Given the description of an element on the screen output the (x, y) to click on. 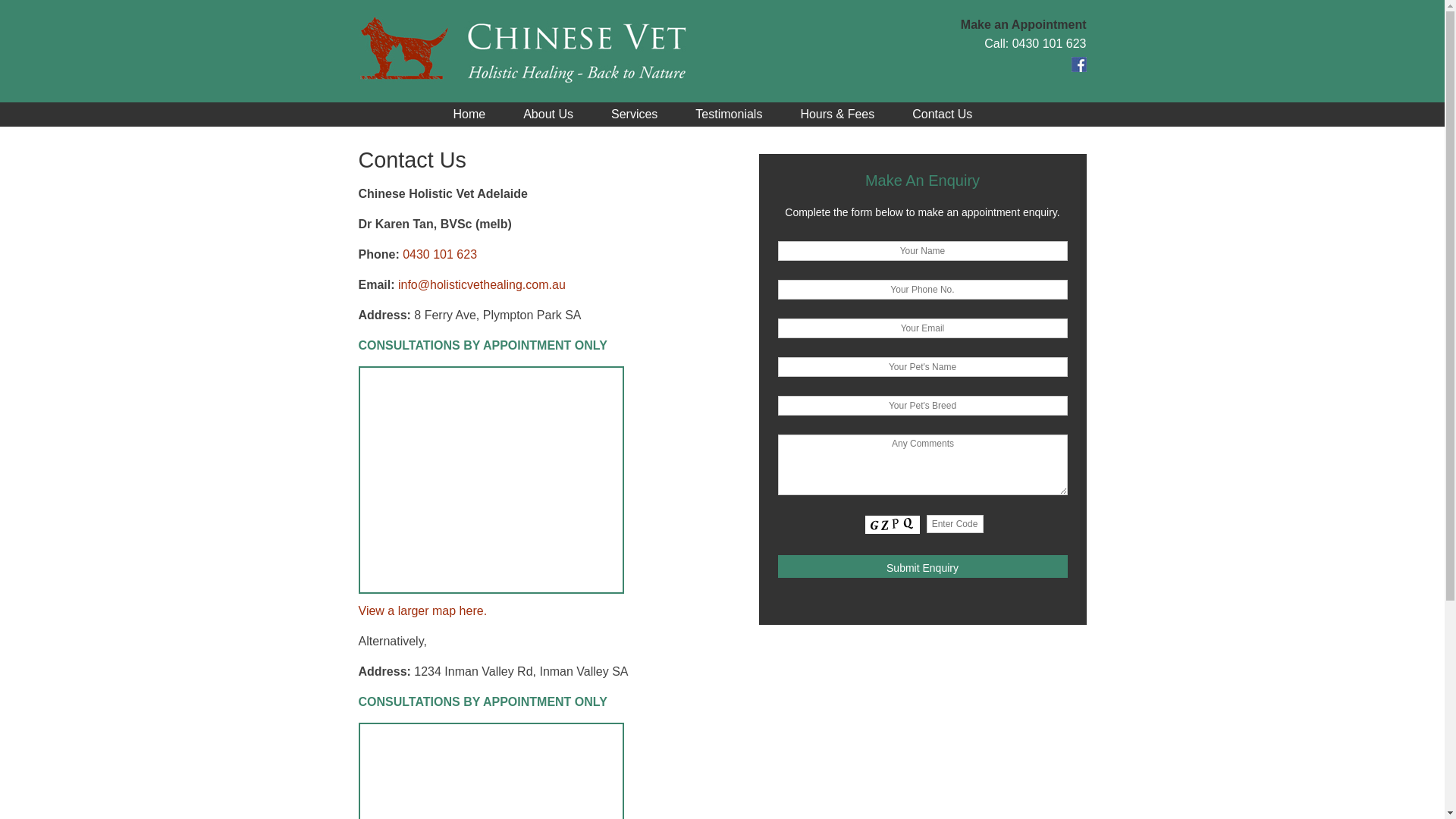
Submit Enquiry Element type: text (922, 566)
Call: 0430 101 623 Element type: text (1034, 43)
About Us Element type: text (548, 113)
info@holisticvethealing.com.au Element type: text (481, 284)
View a larger map here. Element type: text (421, 610)
Testimonials Element type: text (728, 113)
Services Element type: text (634, 113)
Home Element type: text (469, 113)
0430 101 623 Element type: text (439, 253)
Hours & Fees Element type: text (837, 113)
Contact Us Element type: text (942, 113)
